Given the description of an element on the screen output the (x, y) to click on. 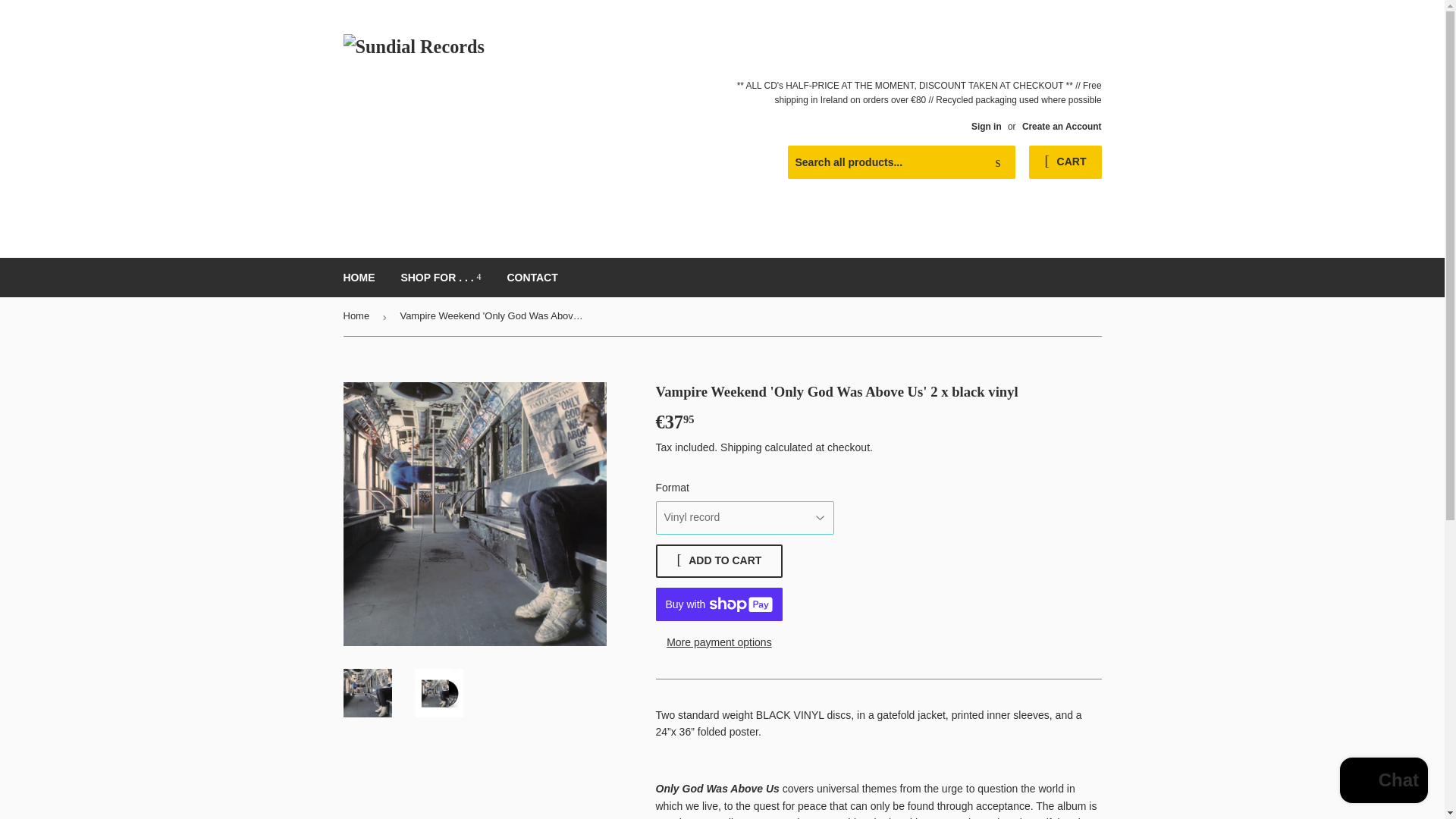
SHOP FOR . . . (440, 277)
Shipping (740, 447)
CONTACT (532, 277)
Sign in (986, 126)
CART (1064, 162)
Create an Account (1062, 126)
Shopify online store chat (1383, 781)
HOME (359, 277)
More payment options (719, 642)
Search (997, 163)
